Given the description of an element on the screen output the (x, y) to click on. 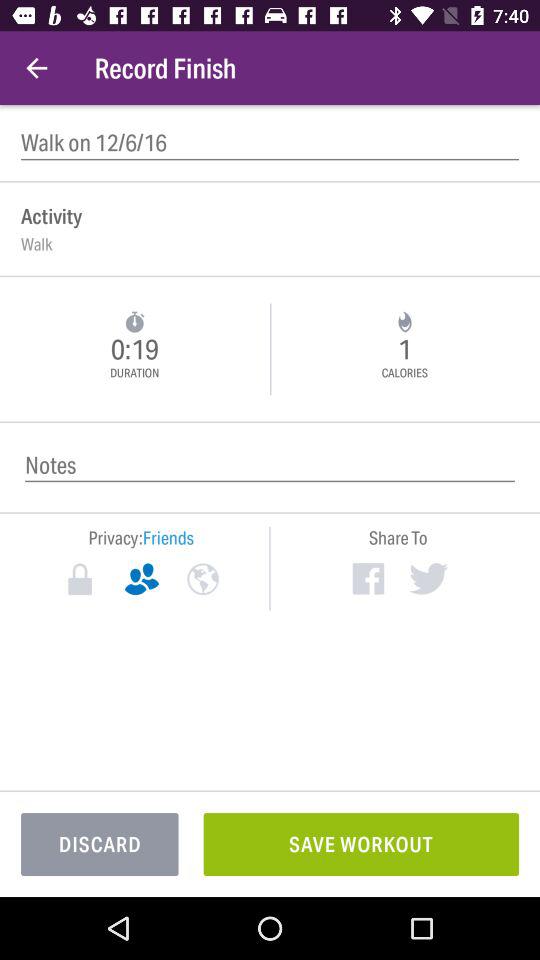
toggle privacy only friends (141, 579)
